Given the description of an element on the screen output the (x, y) to click on. 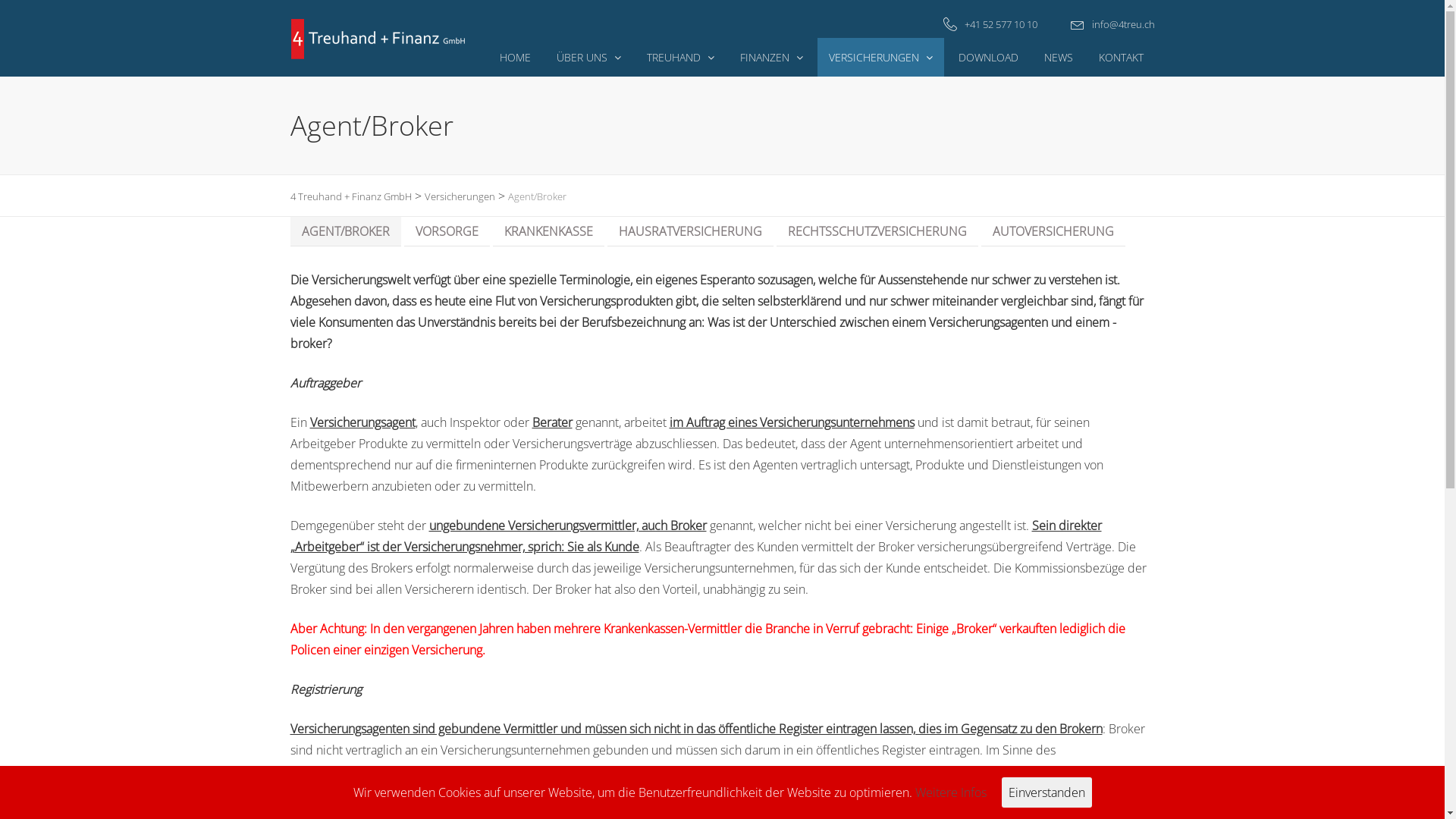
HAUSRATVERSICHERUNG Element type: text (689, 231)
HOME Element type: text (515, 56)
Einverstanden Element type: text (1046, 792)
RECHTSSCHUTZVERSICHERUNG Element type: text (877, 231)
+41 52 577 10 10 Element type: text (1000, 24)
VORSORGE Element type: text (446, 231)
VERSICHERUNGEN Element type: text (880, 56)
DOWNLOAD Element type: text (987, 56)
FINANZEN Element type: text (770, 56)
Weitere Infos Element type: text (949, 792)
4 Treuhand + Finanz GmbH Element type: text (350, 196)
AUTOVERSICHERUNG Element type: text (1053, 231)
info@4treu.ch Element type: text (1123, 24)
Versicherungen Element type: text (459, 196)
KRANKENKASSE Element type: text (548, 231)
NEWS Element type: text (1058, 56)
TREUHAND Element type: text (680, 56)
AGENT/BROKER Element type: text (344, 231)
KONTAKT Element type: text (1120, 56)
